Given the description of an element on the screen output the (x, y) to click on. 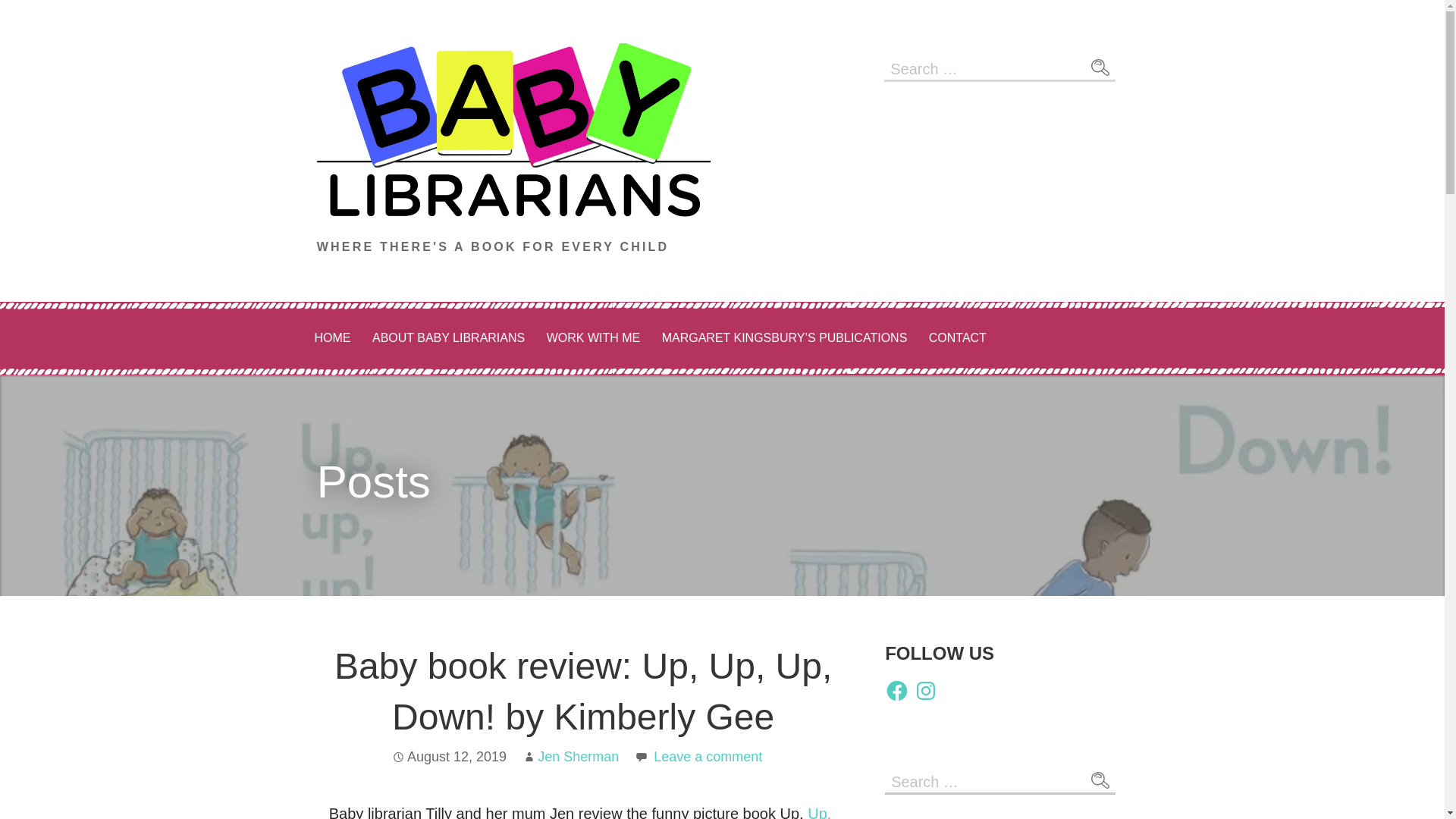
Search (1099, 780)
Posts by Jen Sherman (577, 756)
Search (1099, 67)
Search (1099, 780)
WORK WITH ME (593, 338)
Search (1099, 67)
Leave a comment (707, 756)
ABOUT BABY LIBRARIANS (448, 338)
Up, Up, Down! (580, 812)
Search (1099, 780)
Search (1099, 67)
Facebook (896, 690)
HOME (331, 338)
Instagram (925, 690)
Jen Sherman (577, 756)
